Given the description of an element on the screen output the (x, y) to click on. 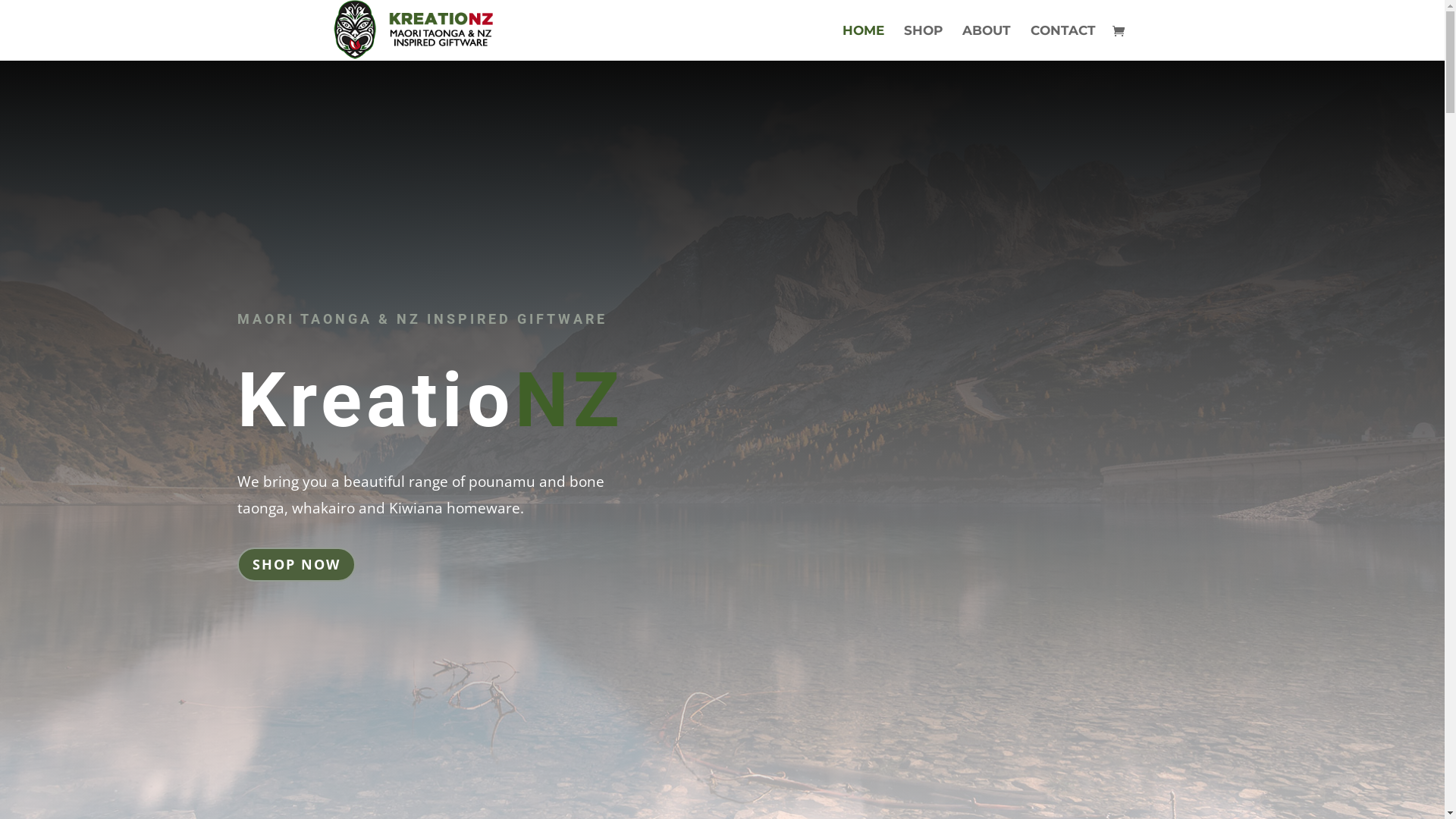
HOME Element type: text (862, 42)
SHOP NOW Element type: text (295, 564)
SHOP Element type: text (922, 42)
ABOUT Element type: text (985, 42)
CONTACT Element type: text (1062, 42)
